Given the description of an element on the screen output the (x, y) to click on. 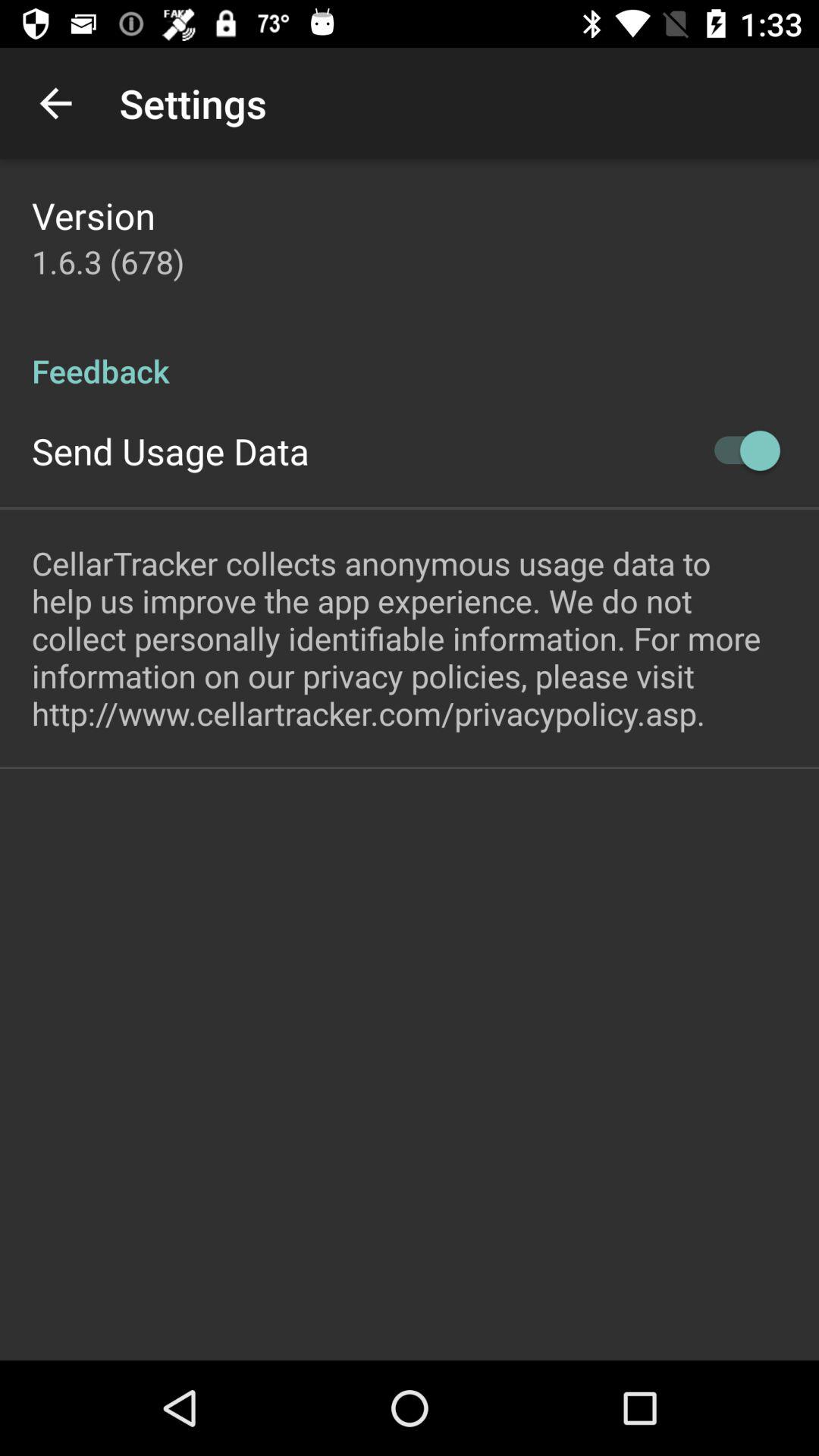
choose icon next to the send usage data app (739, 450)
